Given the description of an element on the screen output the (x, y) to click on. 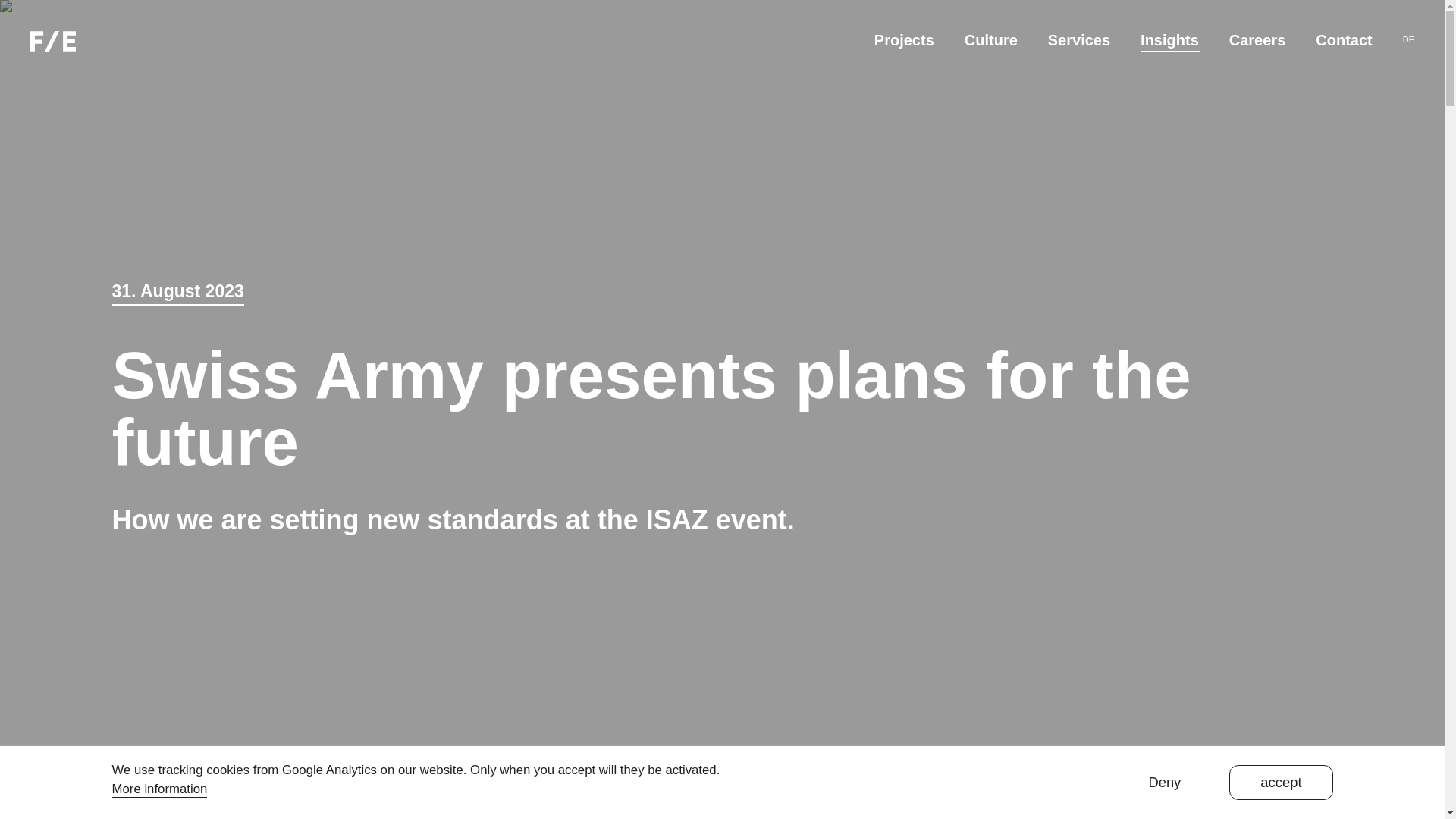
Contact (1343, 39)
Culture (990, 39)
Services (1078, 39)
Culture (990, 39)
FE Agentur (52, 41)
Home (52, 39)
Services (1078, 39)
Careers (1257, 39)
Contact (1343, 39)
Insights (1169, 39)
Deny (1164, 781)
accept (1280, 781)
Careers (1257, 39)
Insights (1169, 39)
DE (1408, 39)
